Given the description of an element on the screen output the (x, y) to click on. 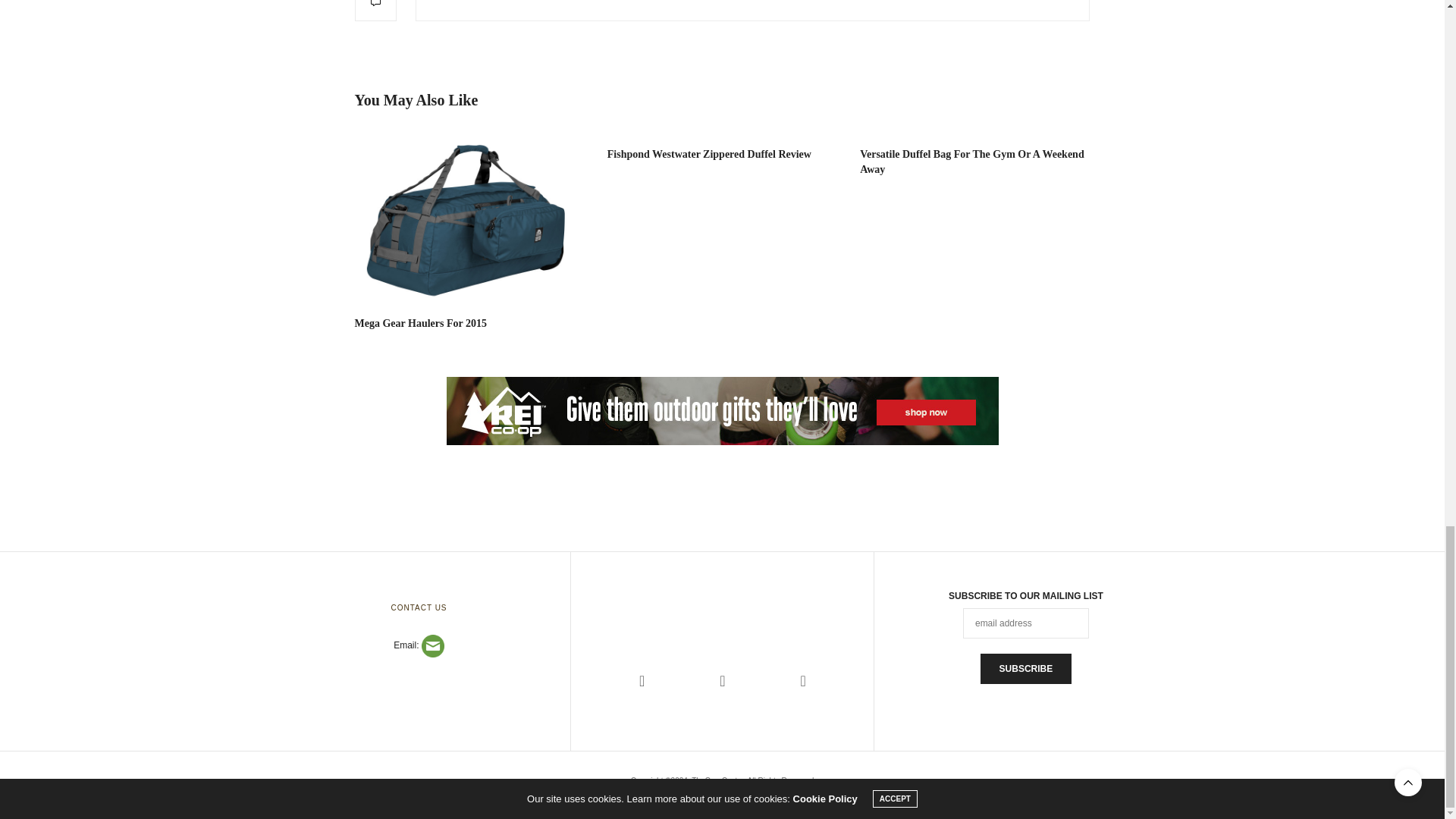
Mega Gear Haulers For 2015 (420, 323)
Fishpond Westwater Zippered Duffel Review (708, 153)
Subscribe (1025, 668)
Mega Gear Haulers For 2015 (470, 217)
Versatile Duffel Bag For The Gym Or A Weekend Away (972, 161)
